Given the description of an element on the screen output the (x, y) to click on. 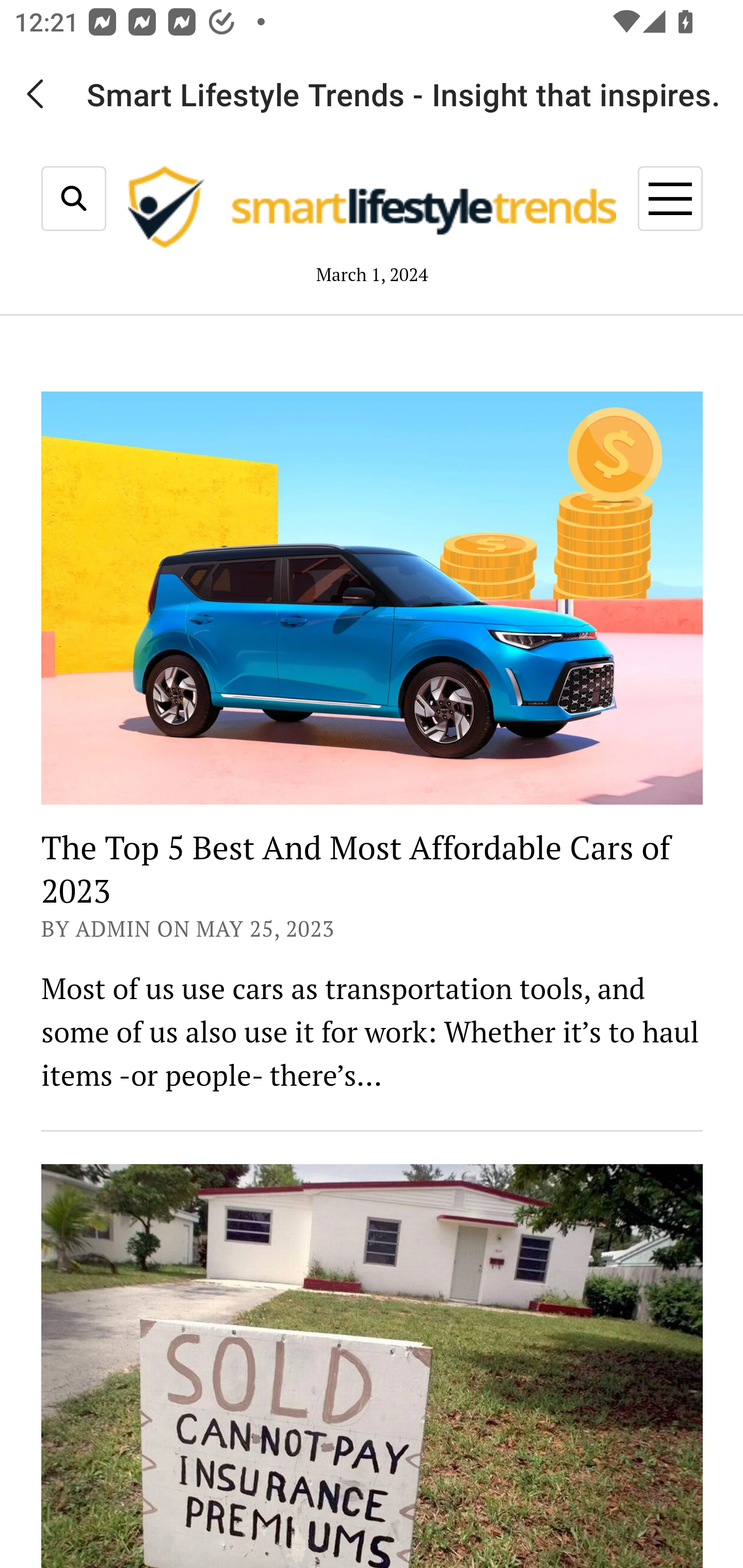
 (73, 199)
Smart Lifestyle Trends (371, 211)
open menu (670, 199)
The Top 5 Best And Most Affordable Cars of 2023 (371, 597)
The Top 5 Best And Most Affordable Cars of 2023 (355, 869)
